Given the description of an element on the screen output the (x, y) to click on. 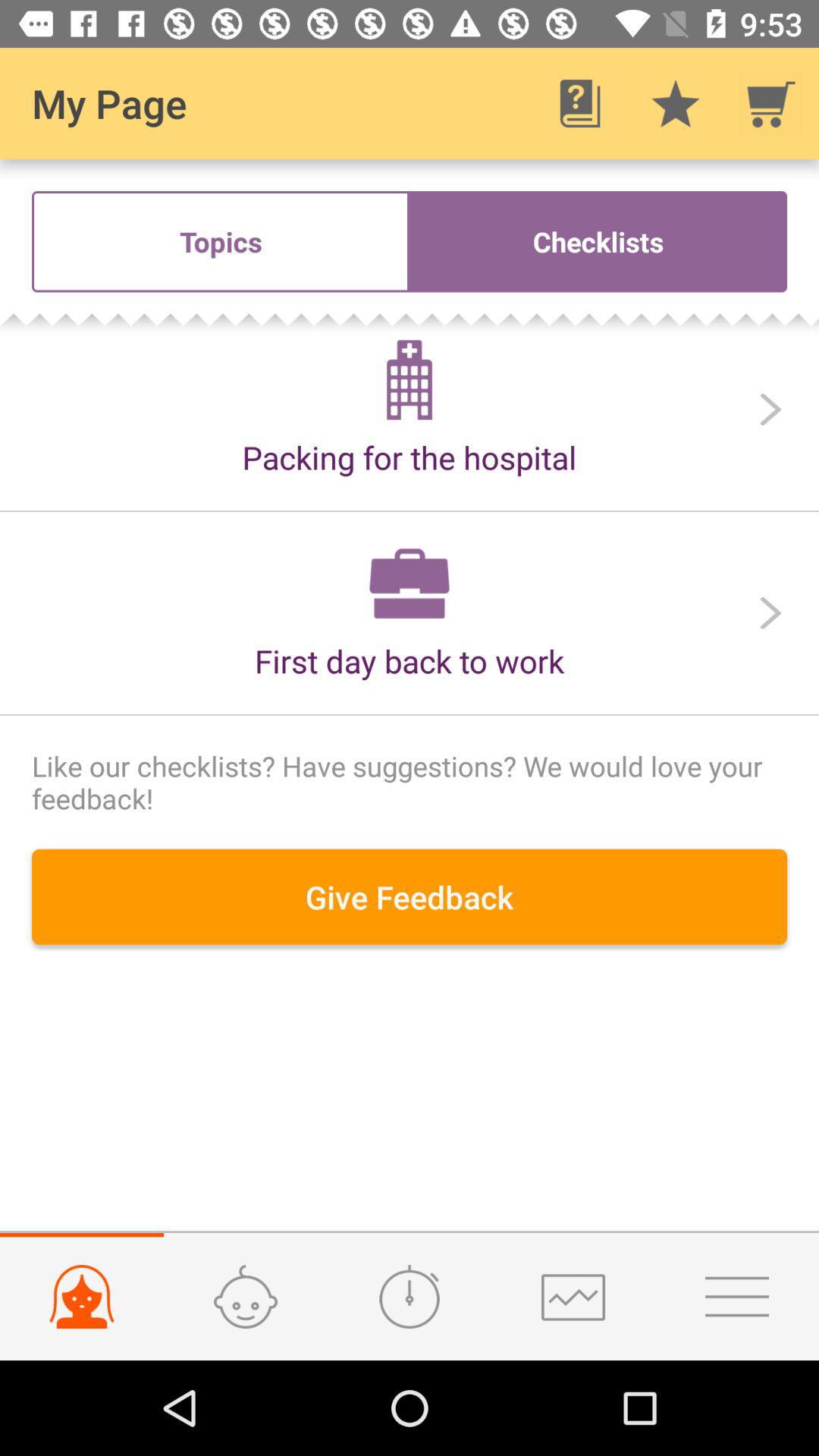
swipe to topics item (220, 241)
